Given the description of an element on the screen output the (x, y) to click on. 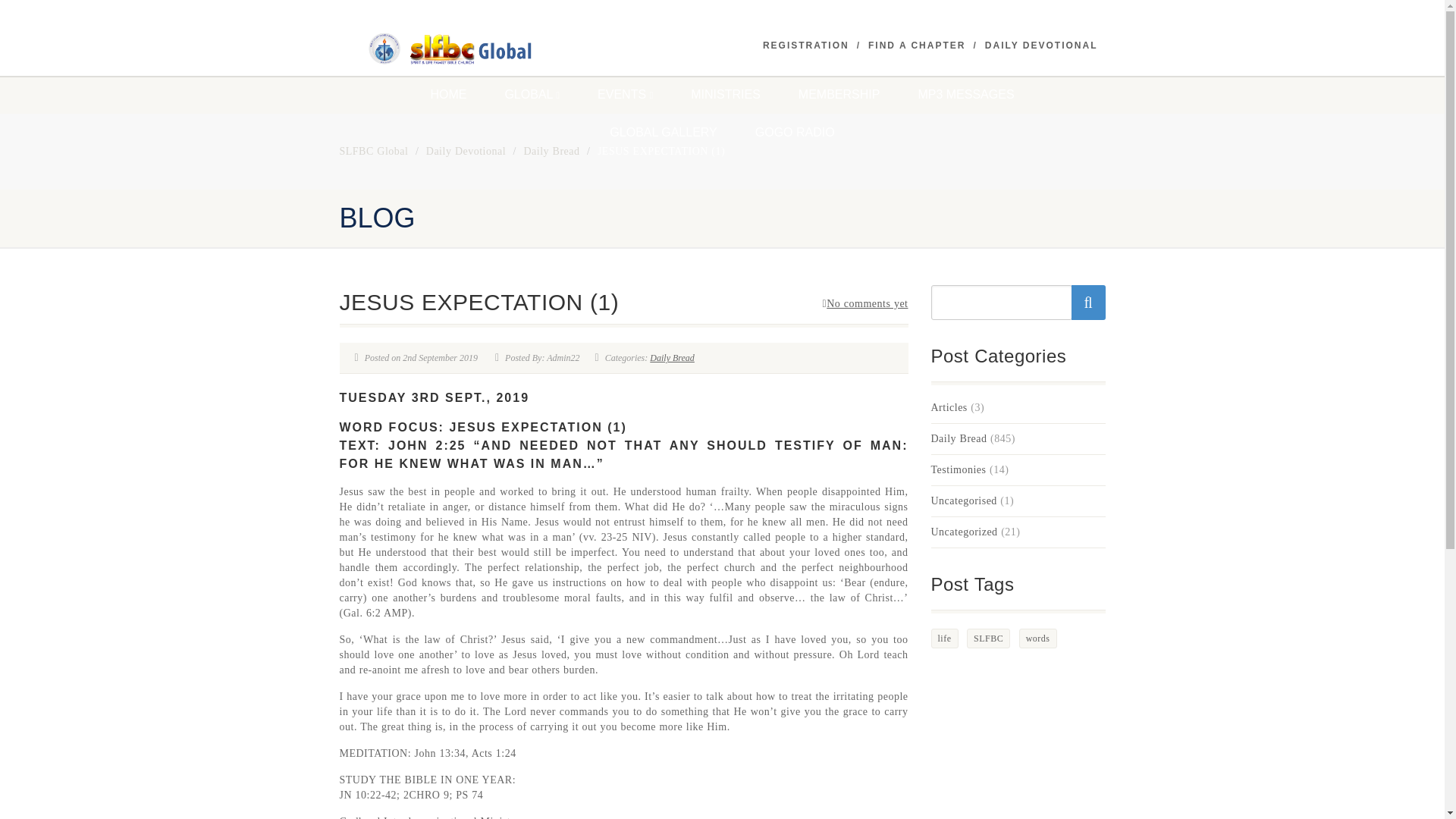
Daily Bread (550, 151)
EVENTS (624, 94)
Daily Bread (671, 357)
REGISTRATION (805, 45)
GLOBAL GALLERY (663, 132)
Go to the Daily Bread category archives. (550, 151)
Articles (949, 407)
FIND A CHAPTER (916, 45)
Go to Daily Devotional. (465, 151)
SLFBC (459, 48)
No comments yet (865, 303)
HOME (447, 94)
GLOBAL (531, 94)
Go to SLFBC Global. (374, 151)
Daily Devotional (465, 151)
